Given the description of an element on the screen output the (x, y) to click on. 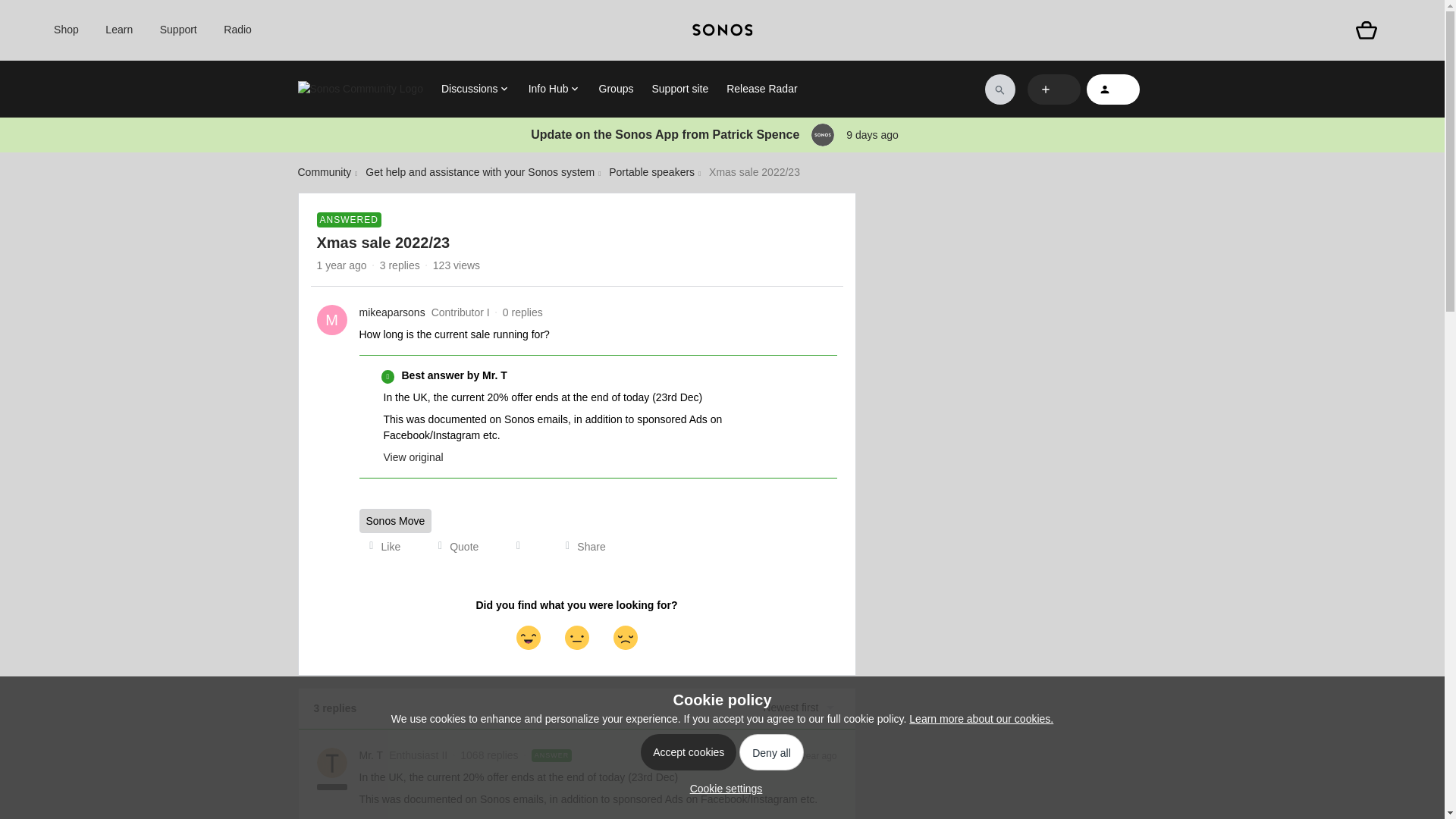
Learn (118, 30)
Discussions (476, 88)
Shop (65, 30)
Radio (237, 30)
Support (178, 30)
